Given the description of an element on the screen output the (x, y) to click on. 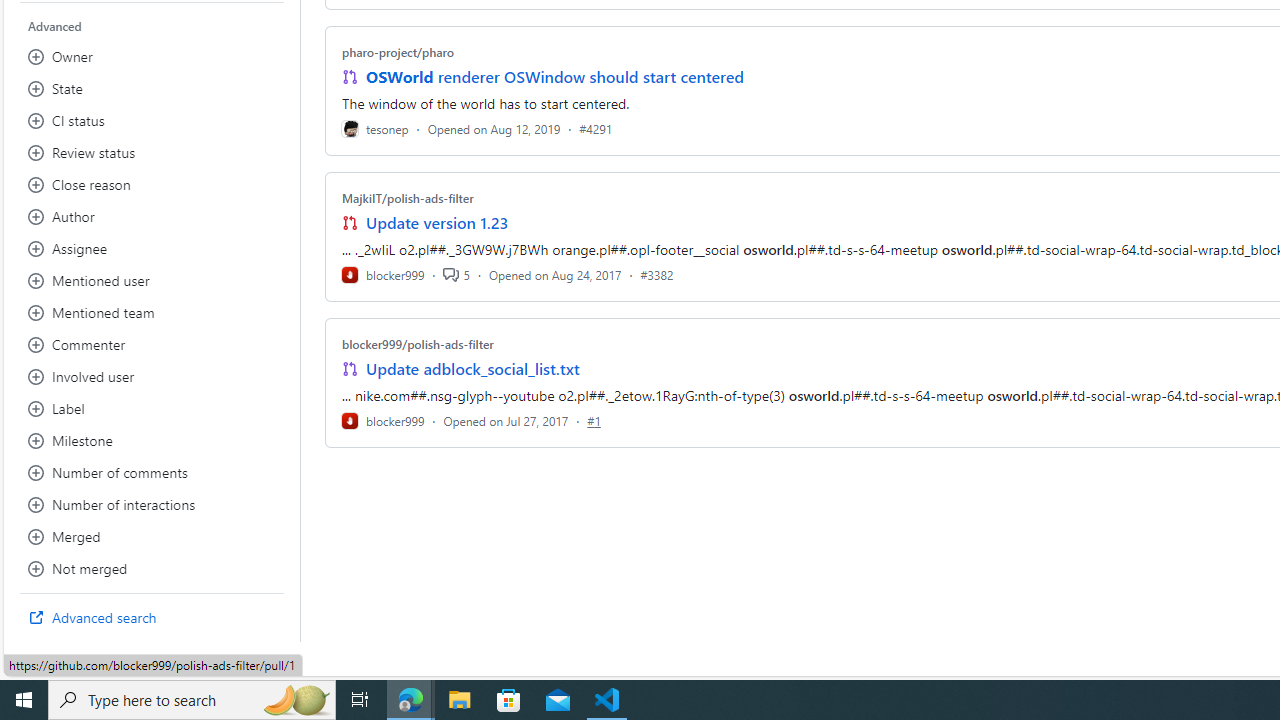
#4291 (595, 128)
#1 (594, 420)
Advanced search (152, 617)
OSWorld renderer OSWindow should start centered (554, 76)
blocker999/polish-ads-filter (417, 343)
MajkiIT/polish-ads-filter (407, 197)
